Given the description of an element on the screen output the (x, y) to click on. 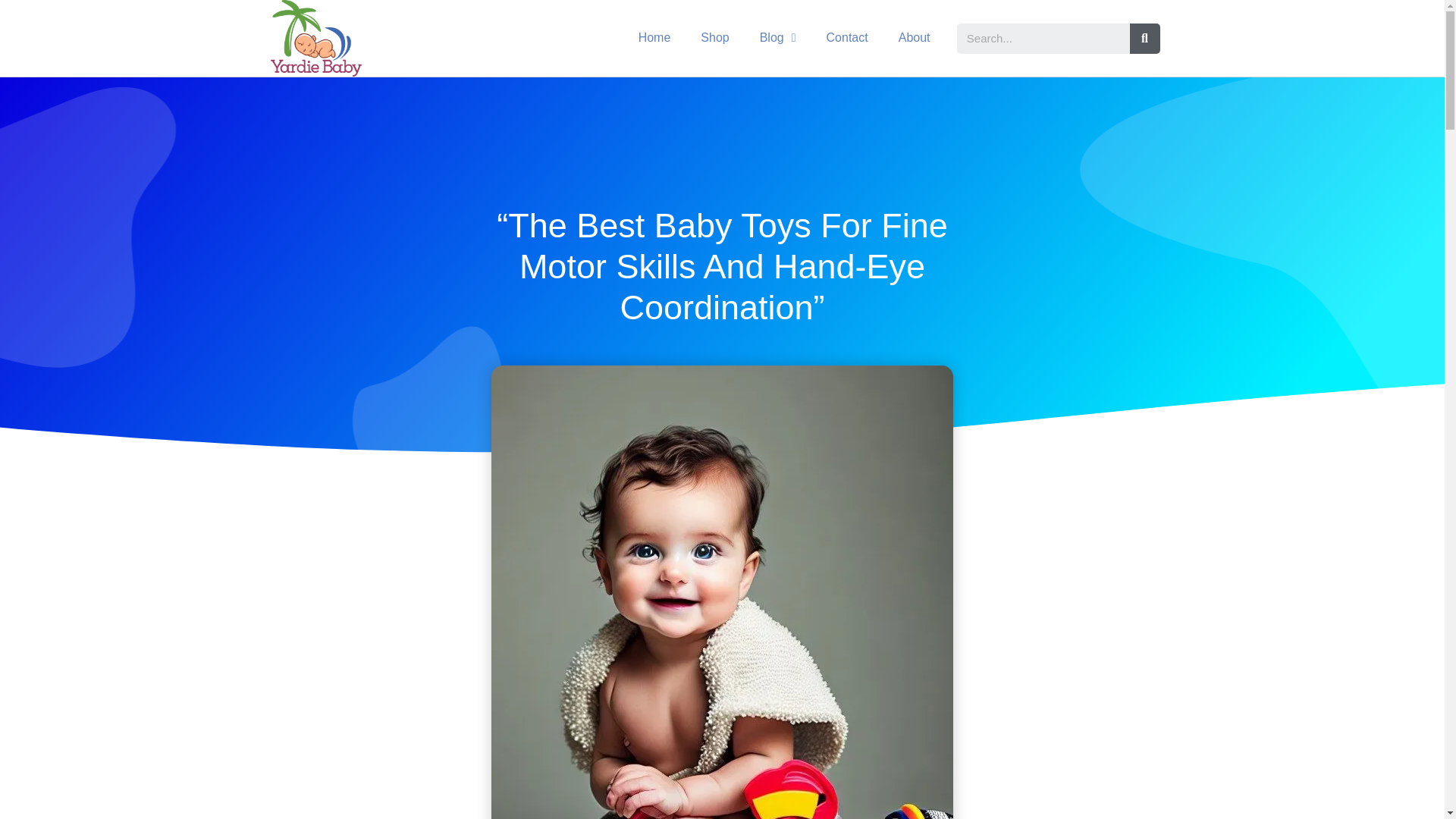
Contact (846, 38)
Search (1042, 38)
Search (1144, 38)
